Given the description of an element on the screen output the (x, y) to click on. 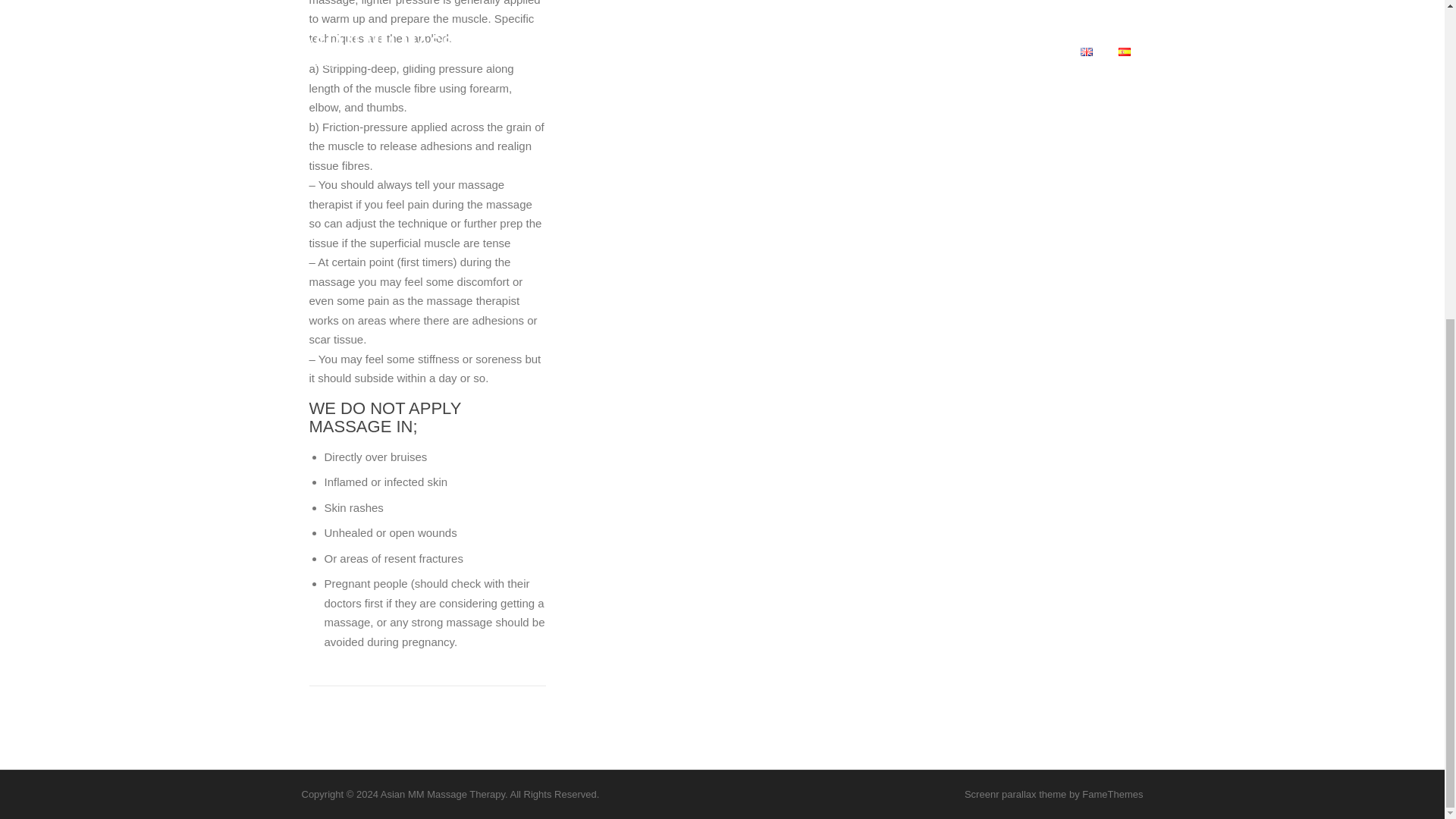
Screenr parallax theme (1014, 794)
